Given the description of an element on the screen output the (x, y) to click on. 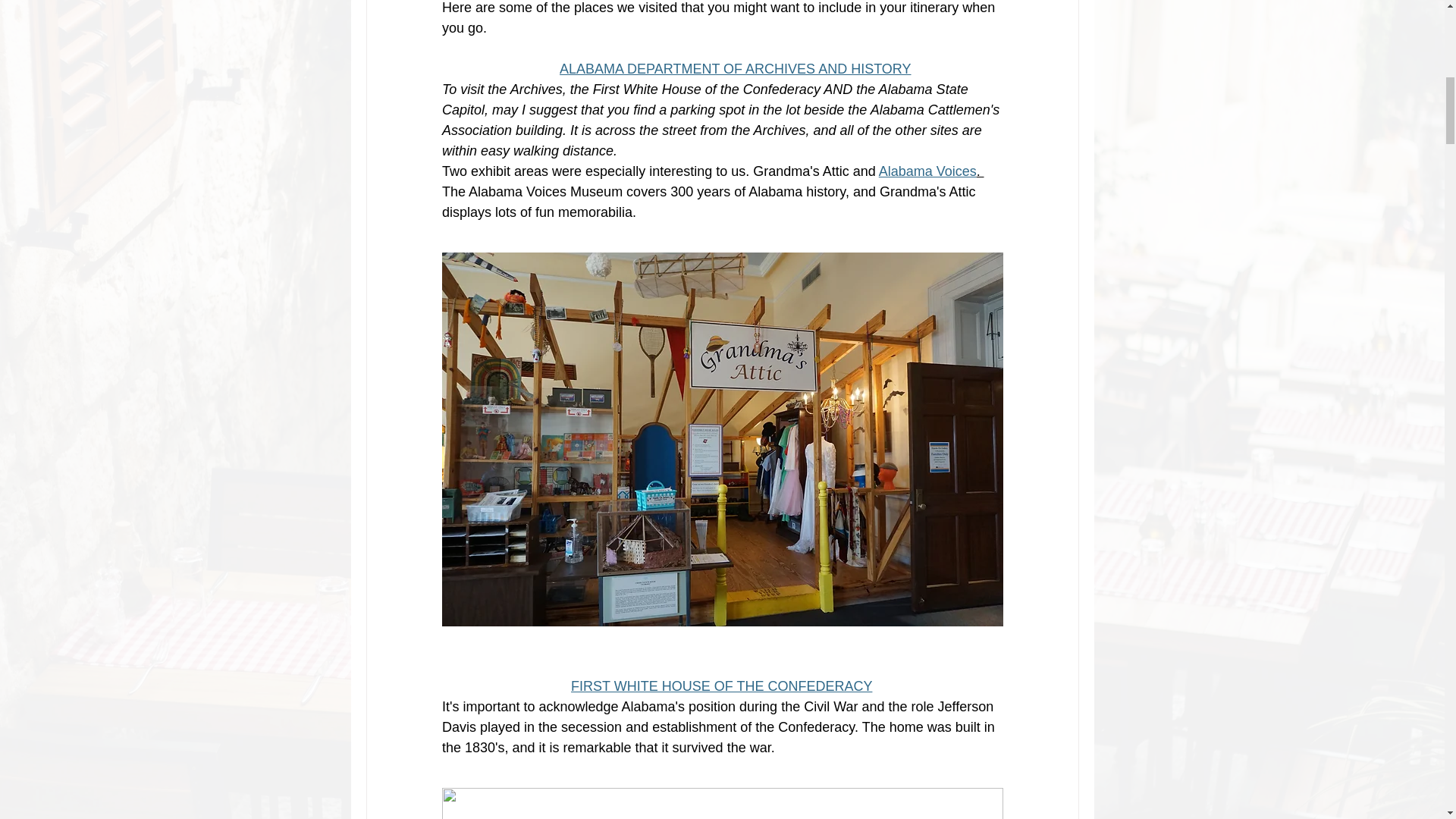
ALABAMA DEPARTMENT OF ARCHIVES AND HISTORY (735, 68)
Alabama Voices (926, 171)
FIRST WHITE HOUSE OF THE CONFEDERACY (721, 685)
